Given the description of an element on the screen output the (x, y) to click on. 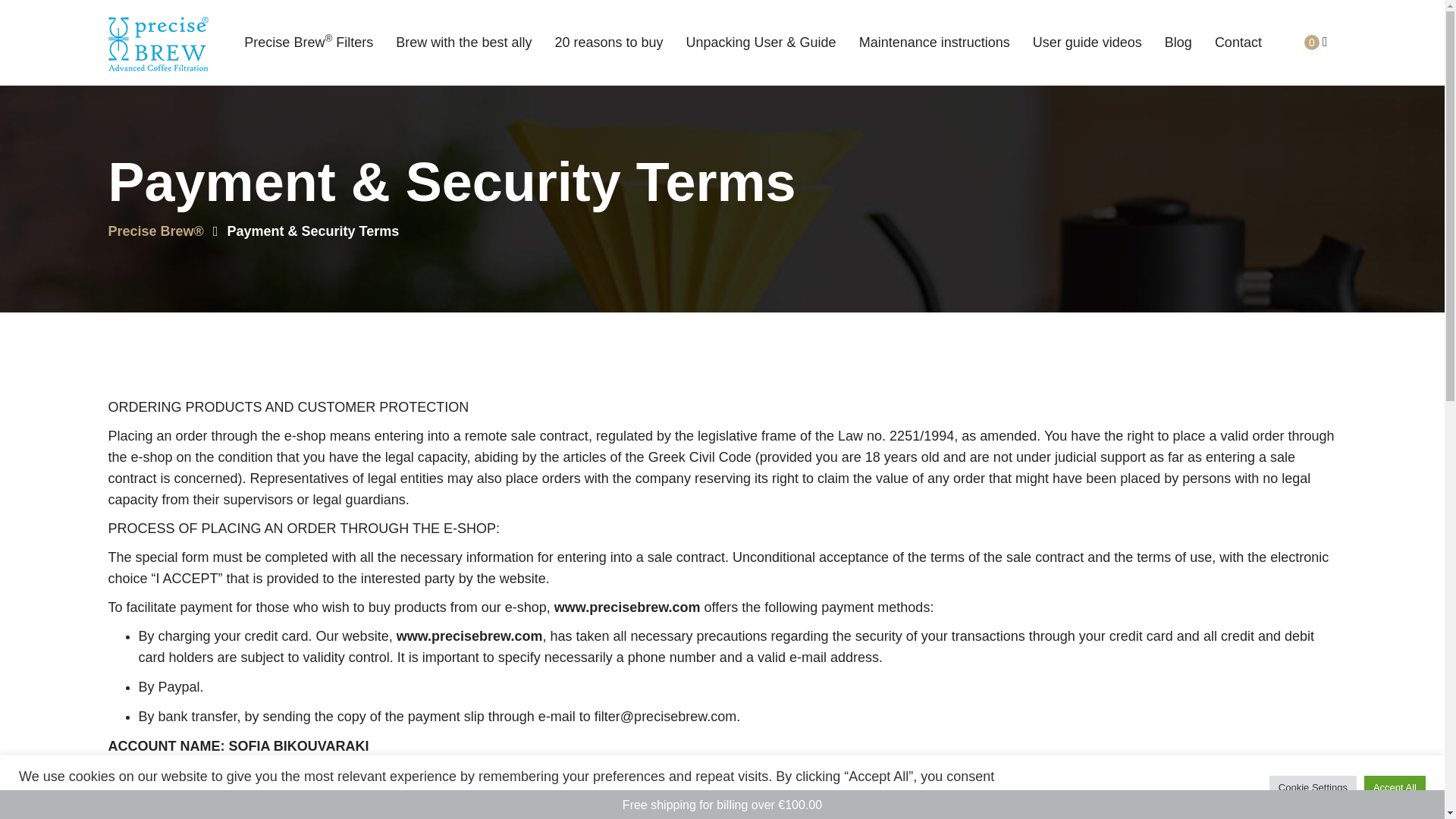
Cookie Settings (1312, 786)
Maintenance instructions (934, 34)
User guide videos (1087, 34)
20 reasons to buy (608, 34)
Brew with the best ally (463, 34)
Accept All (1394, 786)
Blog (1178, 34)
Contact (1238, 34)
